Given the description of an element on the screen output the (x, y) to click on. 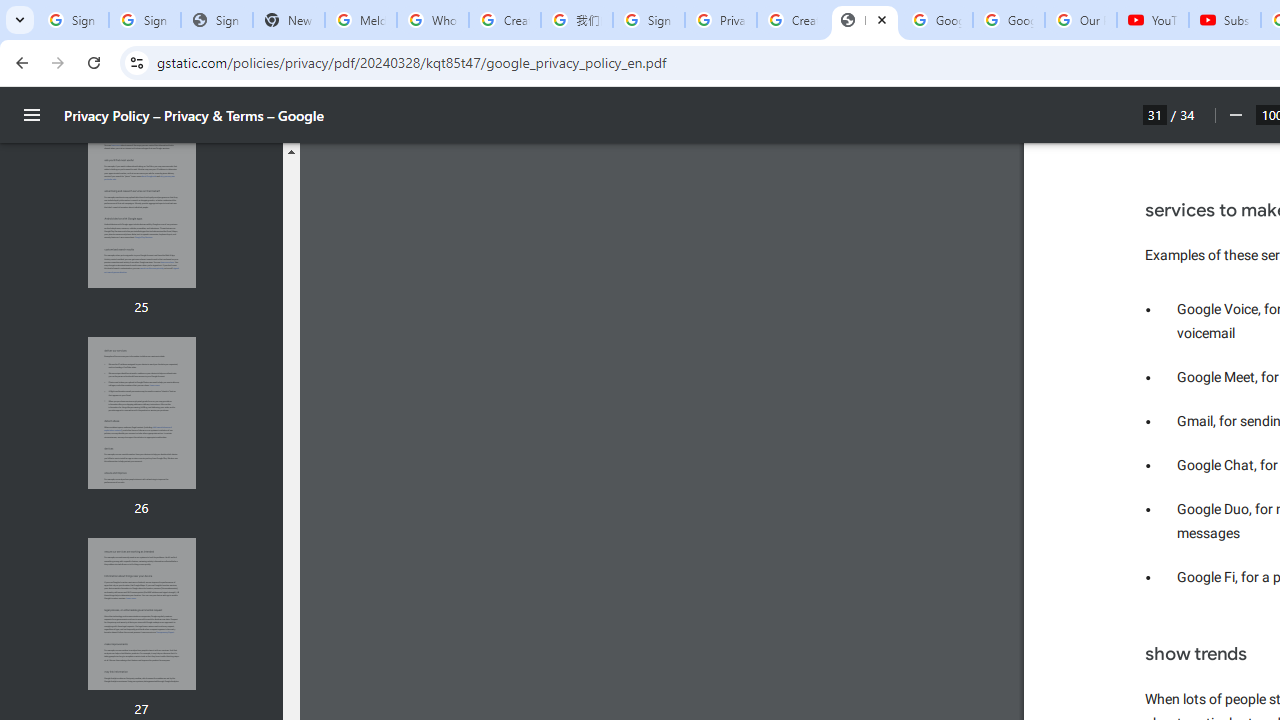
Create your Google Account (792, 20)
YouTube (1153, 20)
Thumbnail for page 26 (141, 413)
Zoom out (1234, 115)
Who is my administrator? - Google Account Help (432, 20)
Sign in - Google Accounts (648, 20)
